Given the description of an element on the screen output the (x, y) to click on. 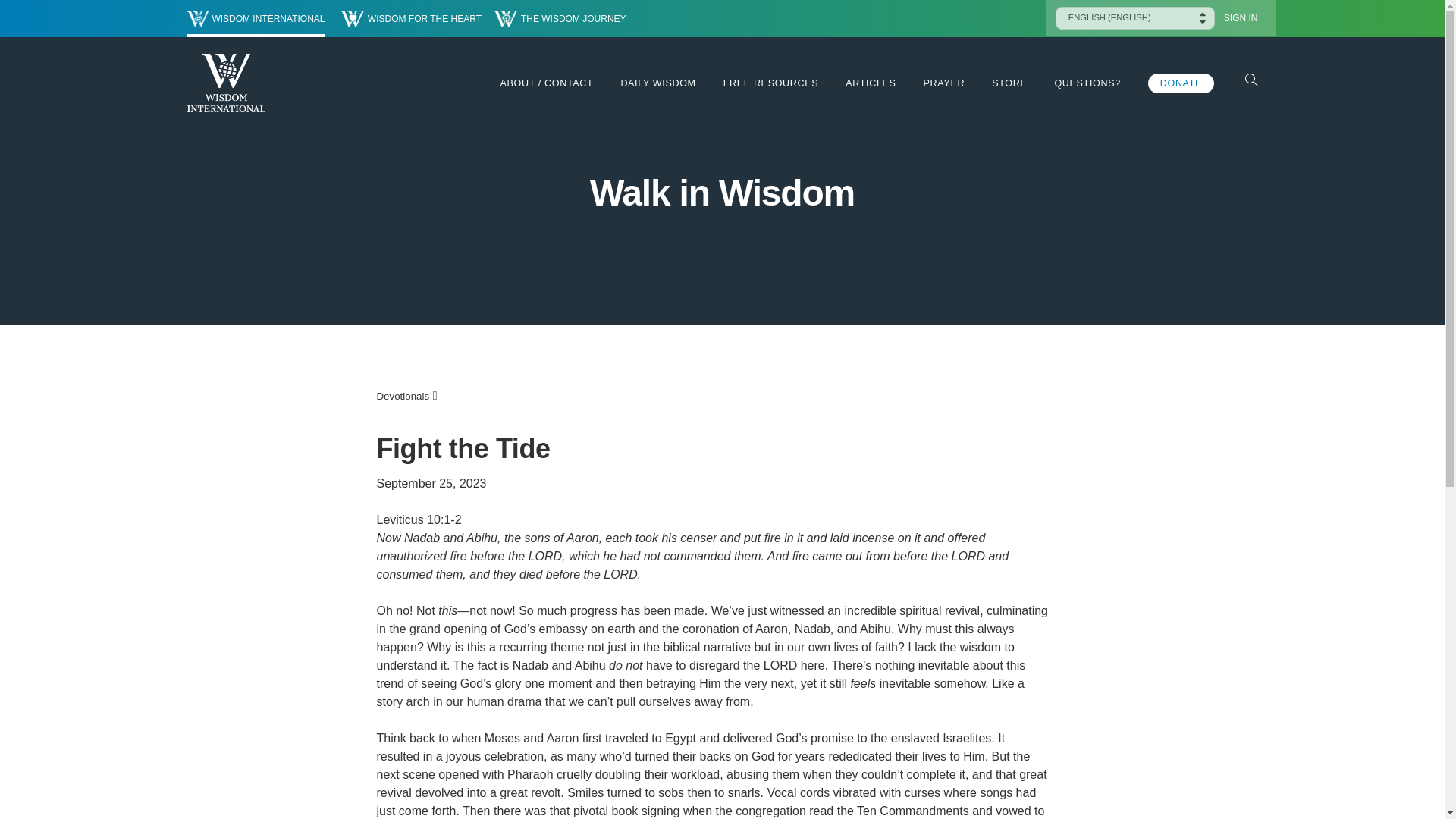
DONATE (1181, 83)
SIGN IN (1240, 18)
DAILY WISDOM (657, 83)
Devotionals (402, 396)
FREE RESOURCES (770, 83)
QUESTIONS? (1086, 83)
WISDOM FOR THE HEART (410, 18)
WISDOM INTERNATIONAL (255, 18)
Sign In (1240, 18)
THE WISDOM JOURNEY (559, 18)
